Given the description of an element on the screen output the (x, y) to click on. 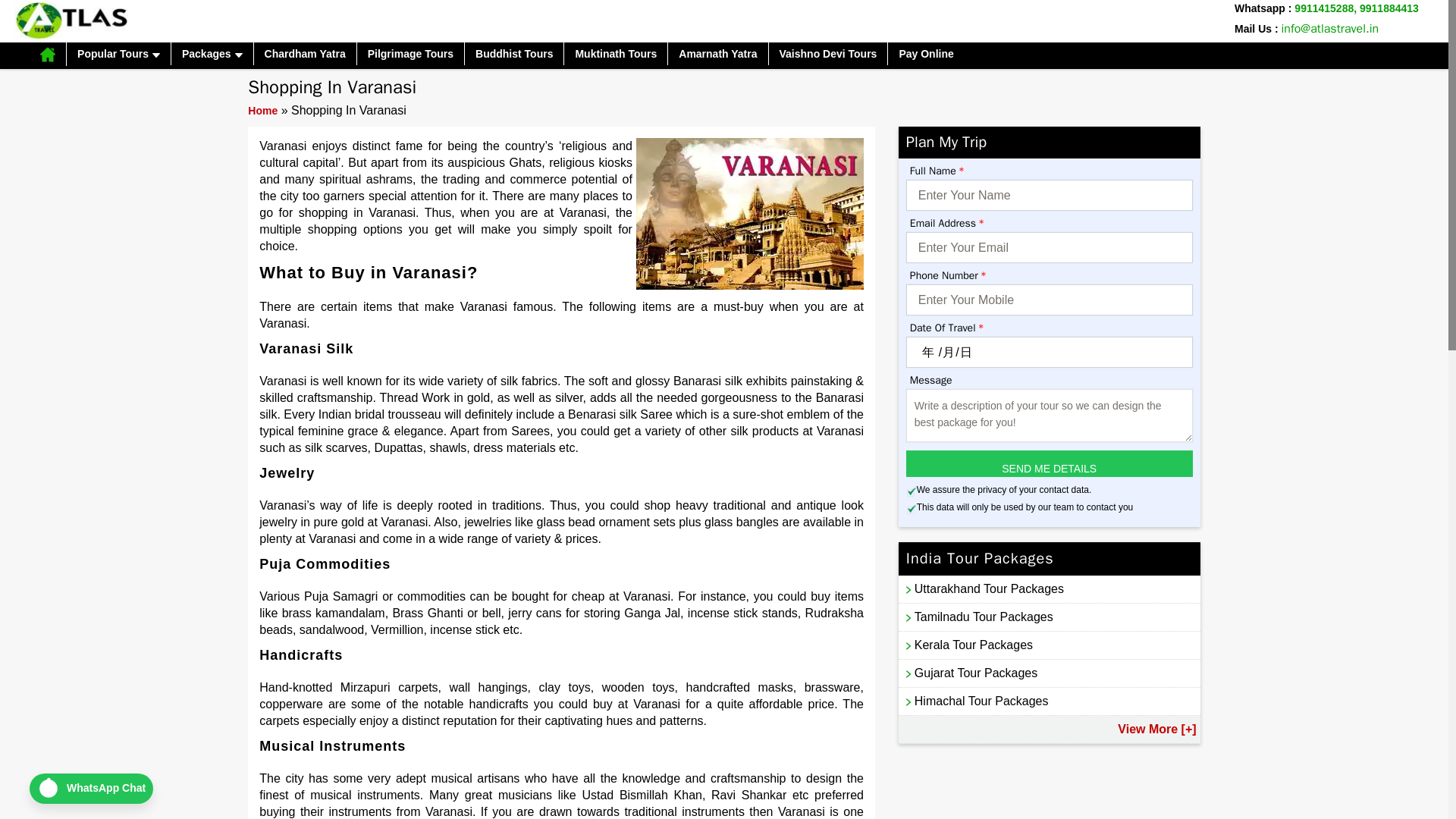
Discuss on Mail (1329, 28)
Uttarakhand Tour Packages (1048, 588)
Himachal Tour Packages (1048, 700)
Muktinath Tours (615, 53)
Packages (212, 53)
Chardham Yatra (304, 53)
Buddhist Tours (513, 53)
SEND ME DETAILS (1048, 463)
Tamilnadu Tour Packages (1048, 616)
Packages (212, 53)
